Given the description of an element on the screen output the (x, y) to click on. 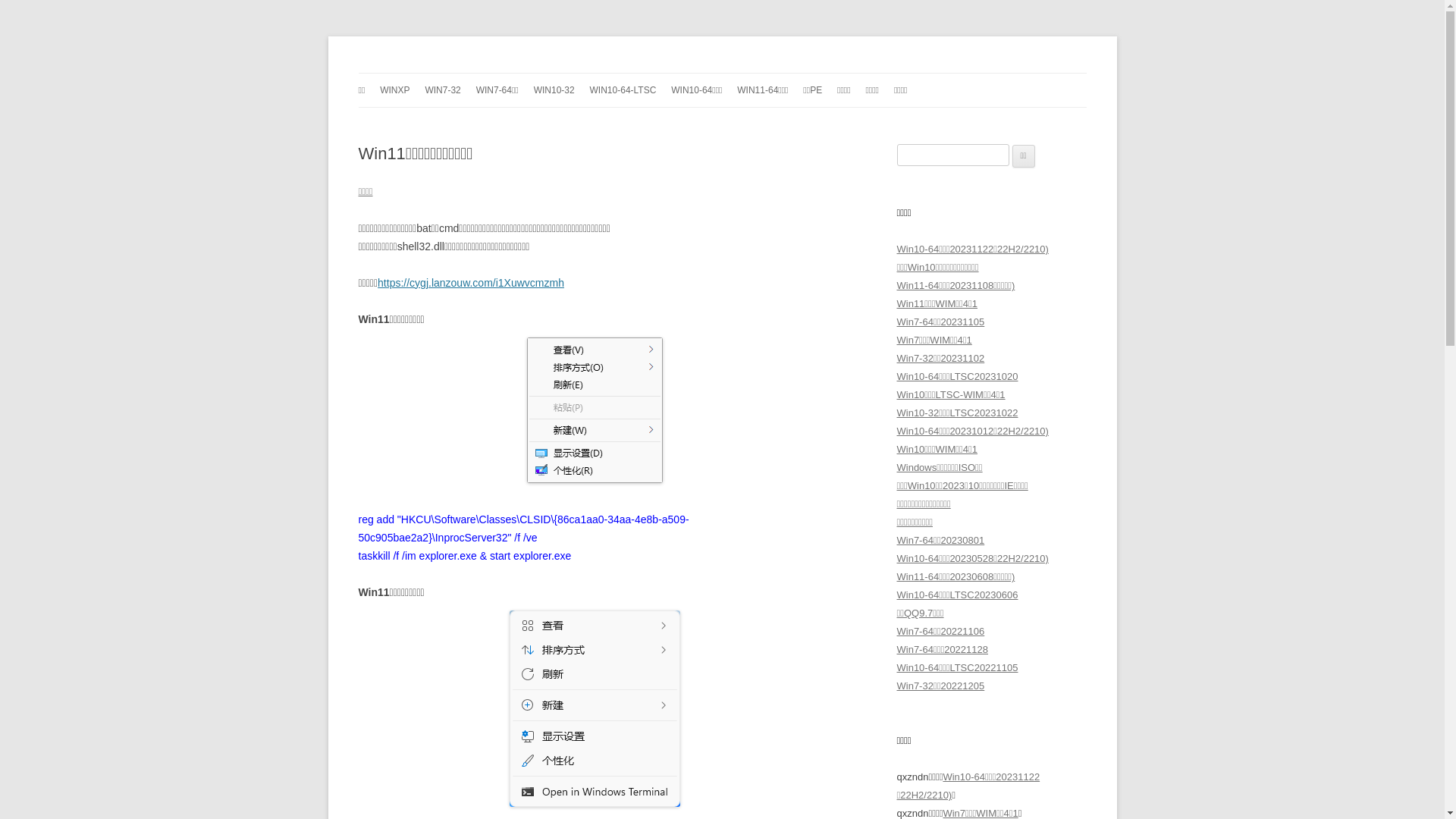
WIN10-32 Element type: text (553, 89)
WINXP Element type: text (394, 89)
WIN10-64-LTSC Element type: text (622, 89)
WIN7-32 Element type: text (442, 89)
2345dn Element type: text (391, 72)
https://cygj.lanzouw.com/i1Xuwvcmzmh Element type: text (470, 282)
